Given the description of an element on the screen output the (x, y) to click on. 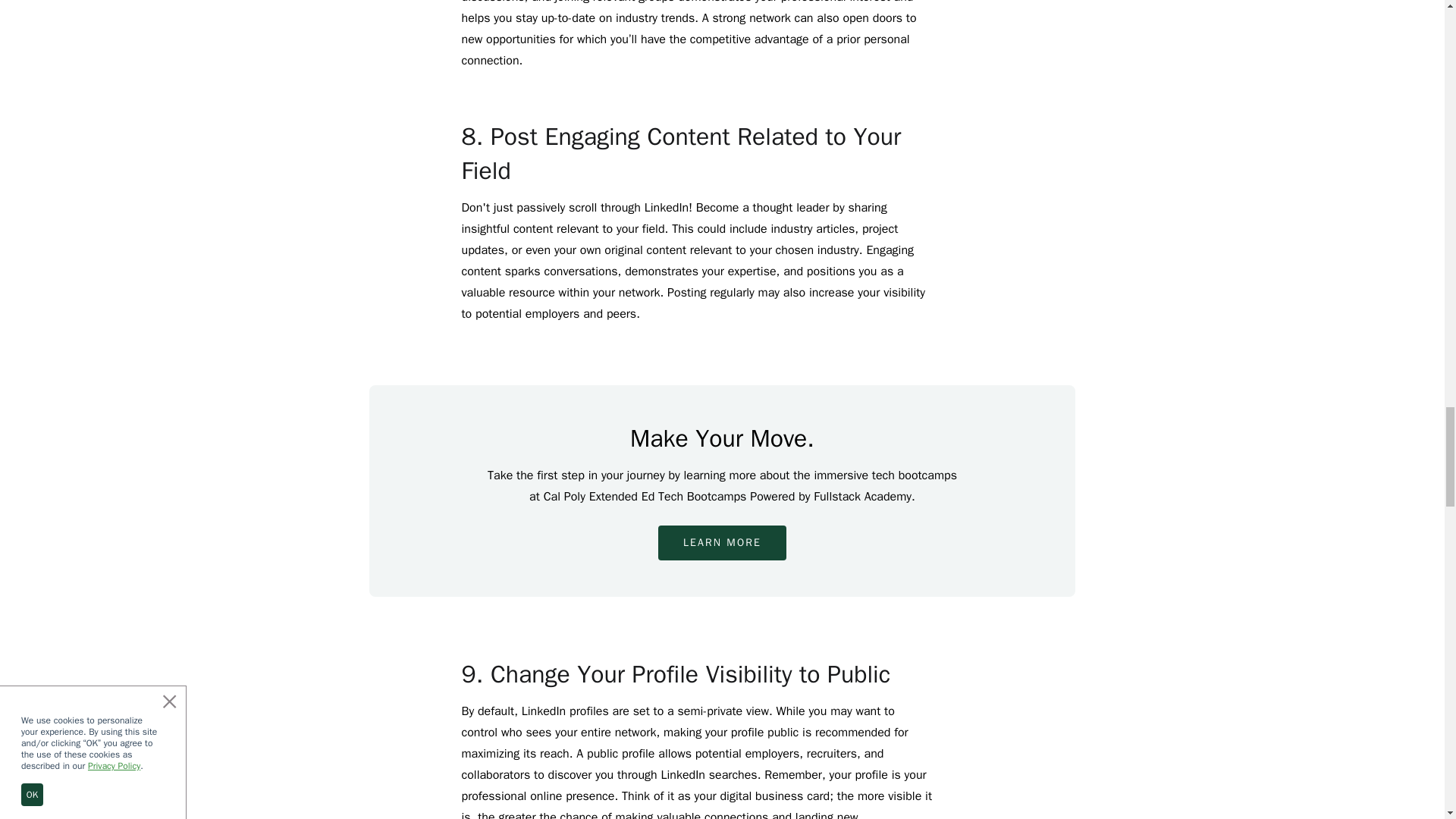
LEARN MORE (722, 542)
